Given the description of an element on the screen output the (x, y) to click on. 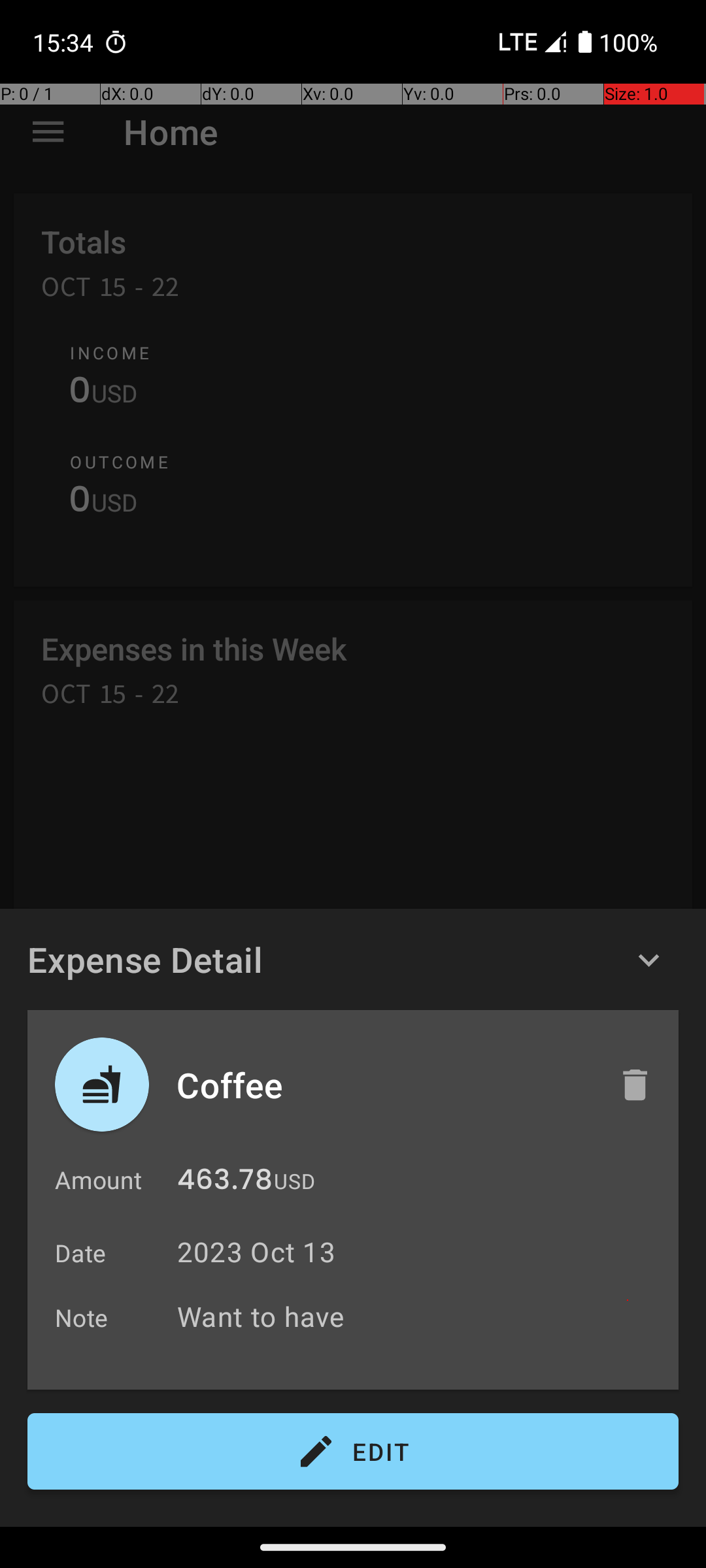
Coffee Element type: android.widget.TextView (383, 1084)
463.78 Element type: android.widget.TextView (224, 1182)
